Given the description of an element on the screen output the (x, y) to click on. 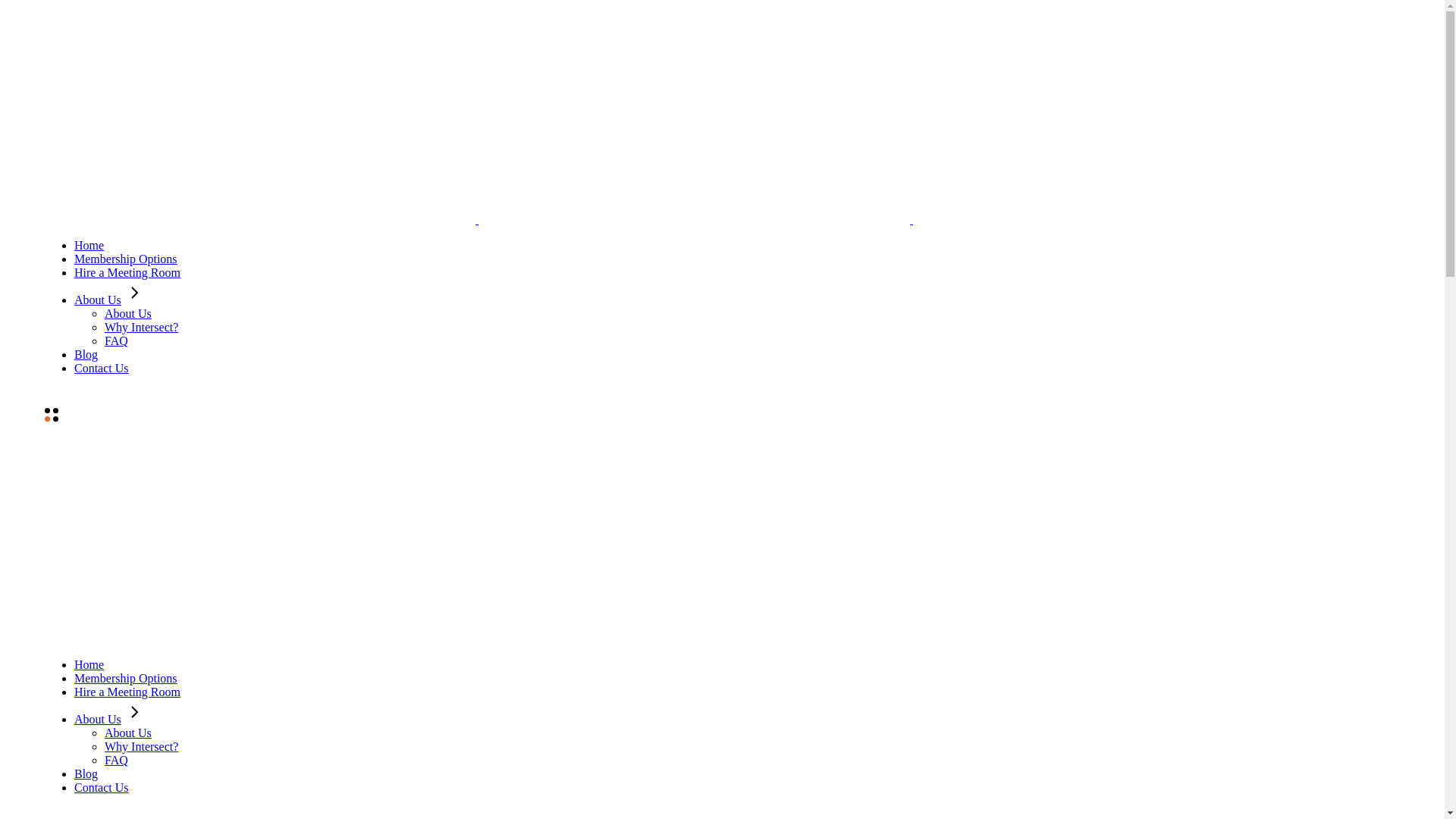
Why Intersect? Element type: text (141, 326)
Membership Options Element type: text (125, 258)
Membership Options Element type: text (125, 677)
About Us Element type: text (127, 732)
Why Intersect? Element type: text (141, 746)
About Us Element type: text (109, 299)
FAQ Element type: text (116, 340)
Home Element type: text (88, 664)
Blog Element type: text (85, 773)
Hire a Meeting Room Element type: text (127, 691)
FAQ Element type: text (116, 759)
Blog Element type: text (85, 354)
About Us Element type: text (109, 718)
Hire a Meeting Room Element type: text (127, 272)
Contact Us Element type: text (101, 787)
About Us Element type: text (127, 313)
Home Element type: text (88, 244)
Contact Us Element type: text (101, 367)
